Given the description of an element on the screen output the (x, y) to click on. 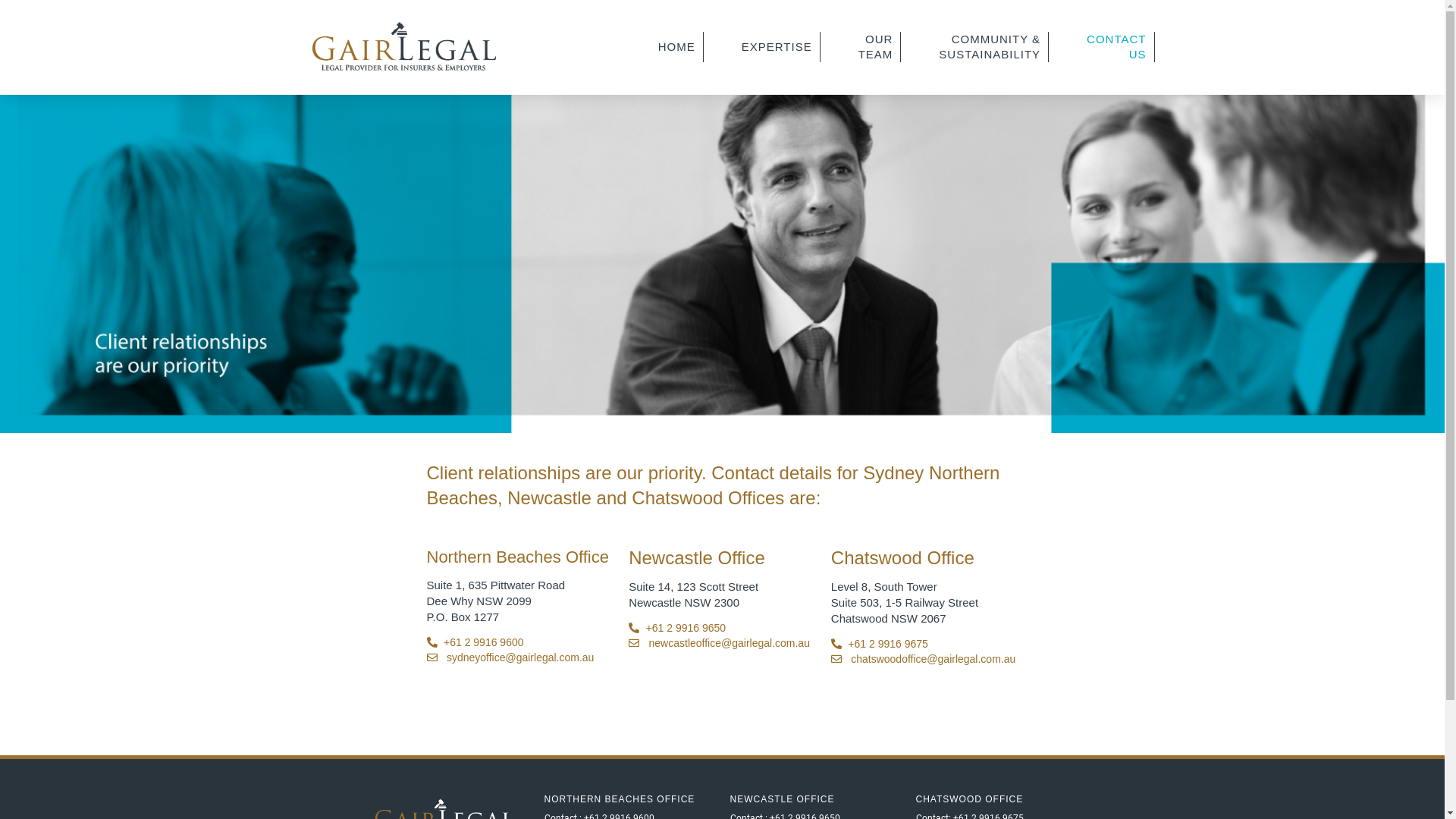
+61 2 9916 9600 Element type: text (519, 642)
+61 2 9916 9650 Element type: text (721, 628)
COMMUNITY &
SUSTAINABILITY Element type: text (989, 46)
EXPERTISE Element type: text (777, 46)
+61 2 9916 9675 Element type: text (924, 644)
chatswoodoffice@gairlegal.com.au Element type: text (924, 659)
OUR
TEAM Element type: text (875, 46)
CONTACT
US Element type: text (1116, 46)
HOME Element type: text (676, 46)
sydneyoffice@gairlegal.com.au Element type: text (519, 657)
newcastleoffice@gairlegal.com.au Element type: text (721, 643)
